Given the description of an element on the screen output the (x, y) to click on. 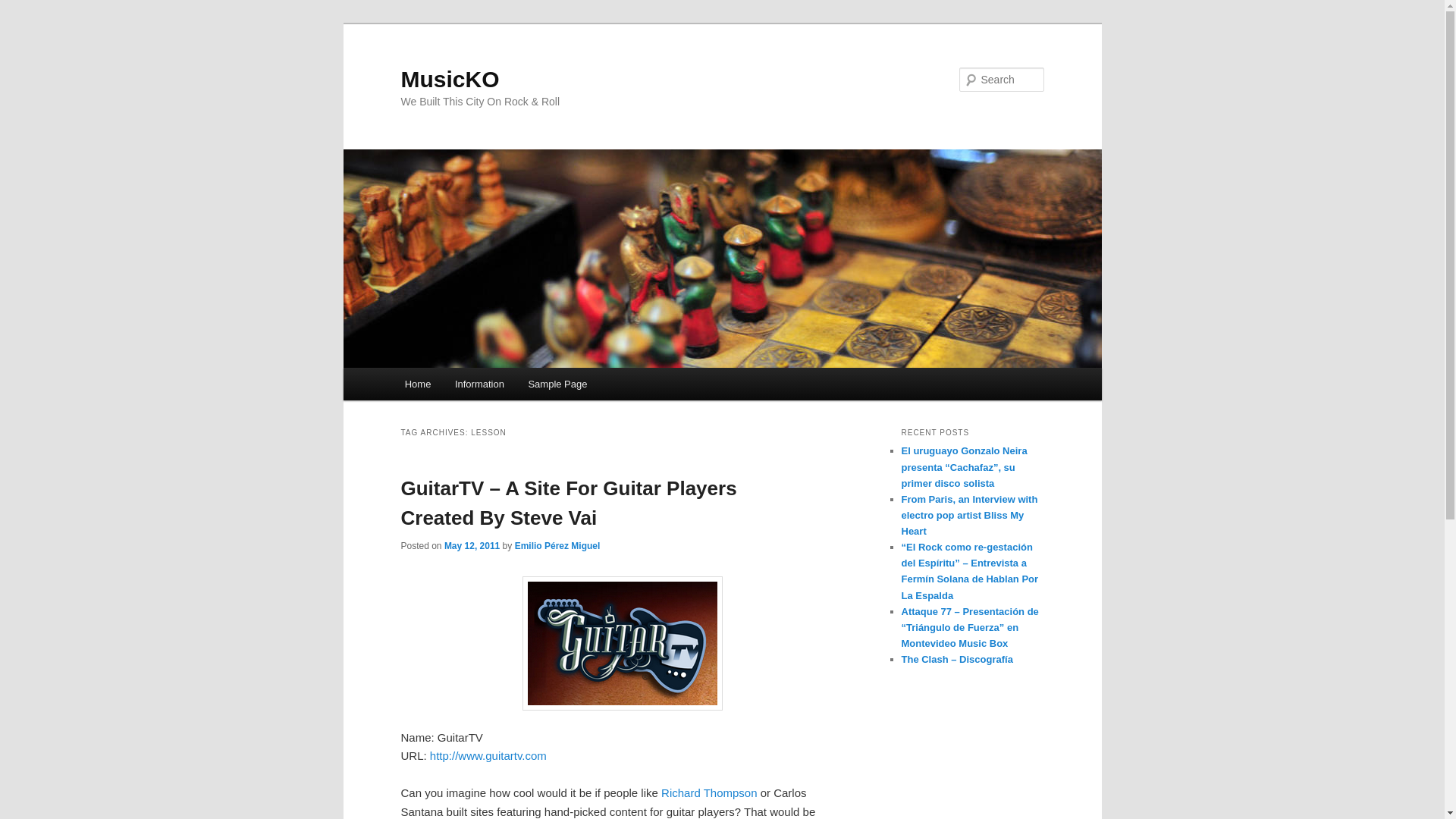
GuitarTV (621, 643)
Search (24, 8)
3:41 pm (471, 545)
MusicKO (449, 78)
May 12, 2011 (471, 545)
Information (479, 383)
Richard Thompson (709, 792)
Home (417, 383)
Sample Page (557, 383)
